Given the description of an element on the screen output the (x, y) to click on. 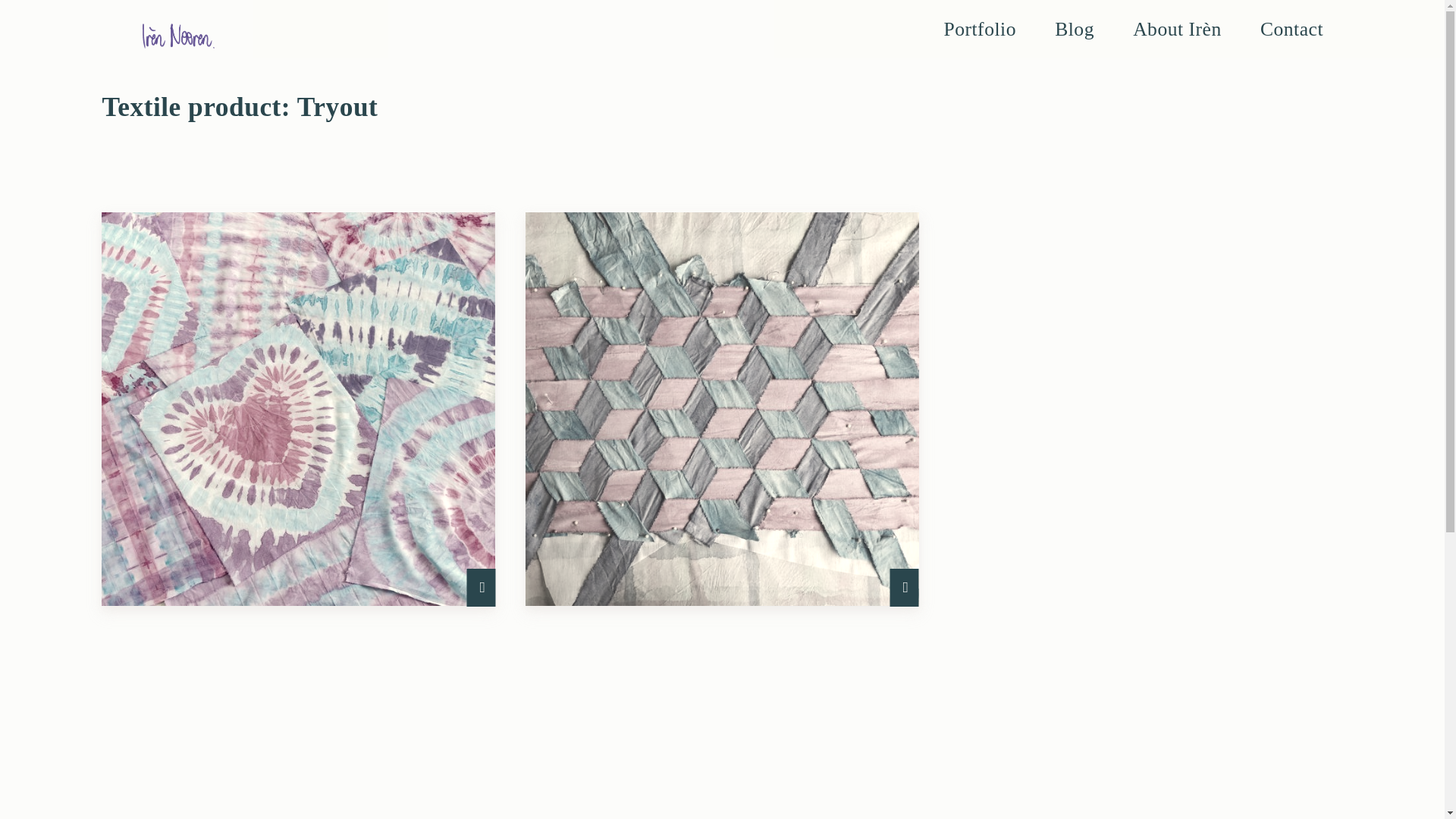
Portfolio (979, 29)
Blog (1074, 29)
Contact (1291, 29)
